Given the description of an element on the screen output the (x, y) to click on. 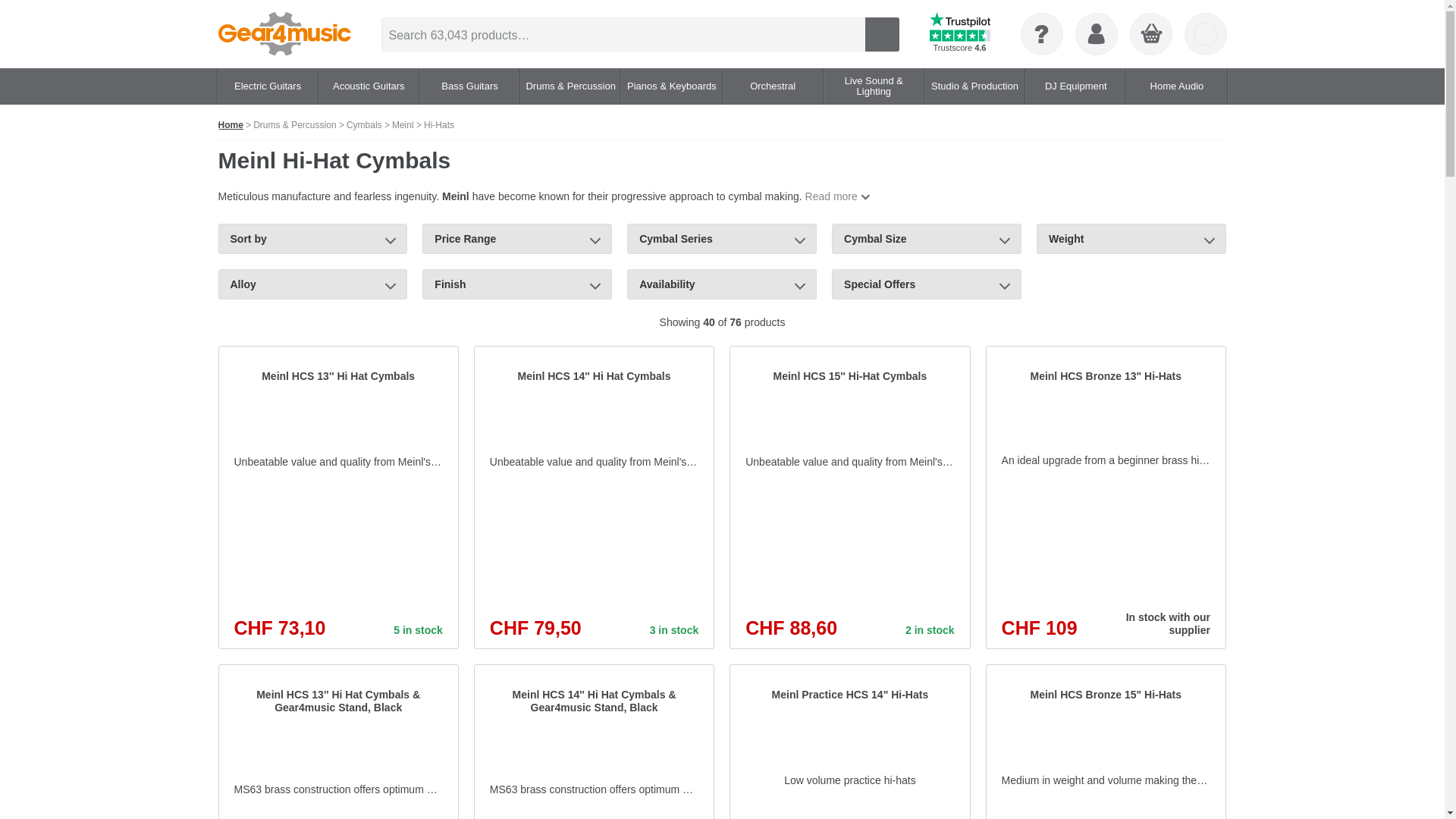
Basket (1150, 34)
Log In (1095, 33)
Electric Guitars (267, 85)
Click for Gear4music home (284, 34)
Trustscore 4.6 (960, 34)
Search (881, 33)
